Given the description of an element on the screen output the (x, y) to click on. 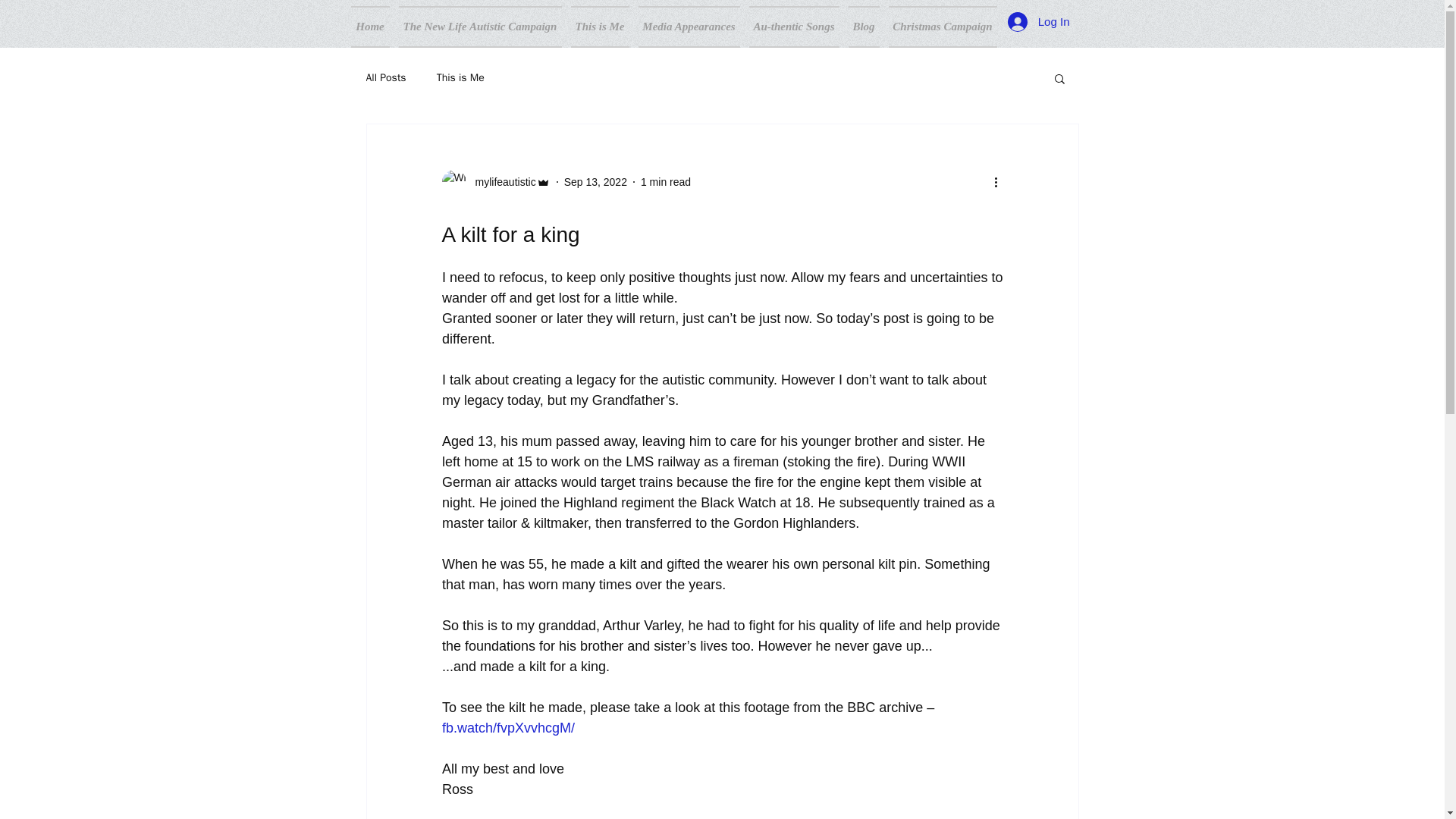
Home (371, 26)
Blog (863, 26)
mylifeautistic (495, 181)
This is Me (599, 26)
This is Me (460, 78)
Media Appearances (688, 26)
1 min read (665, 182)
Sep 13, 2022 (595, 182)
mylifeautistic (500, 182)
The New Life Autistic Campaign (480, 26)
Christmas Campaign (940, 26)
All Posts (385, 78)
Log In (1038, 21)
Au-thentic Songs (794, 26)
